Given the description of an element on the screen output the (x, y) to click on. 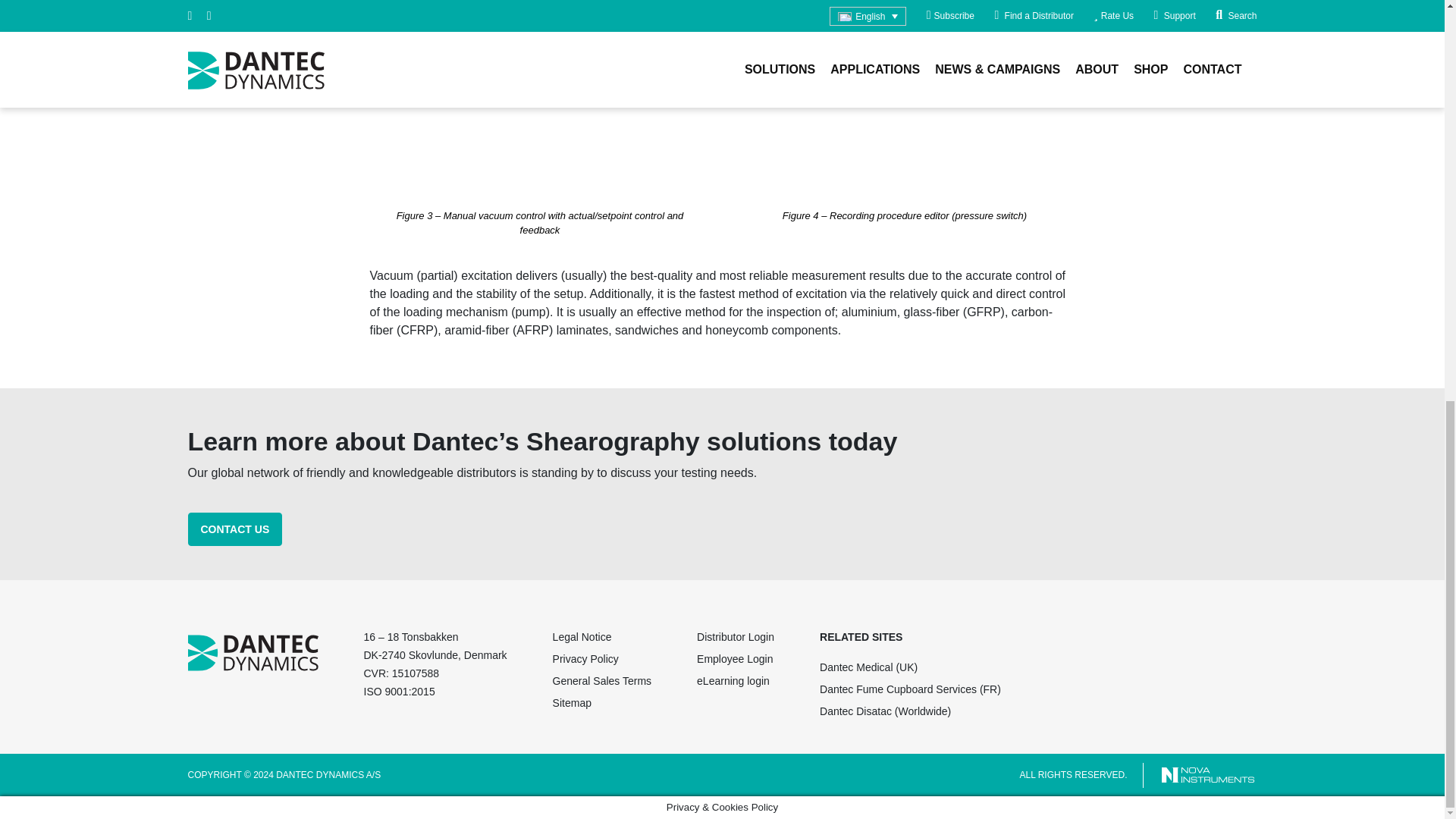
Privacy Policy (601, 660)
Sitemap (601, 704)
Legal Notice (601, 639)
Employee Login (735, 660)
Nova Instruments (1207, 774)
General Sales Terms (601, 682)
eLearning login (735, 682)
Distributor Login (735, 639)
